Given the description of an element on the screen output the (x, y) to click on. 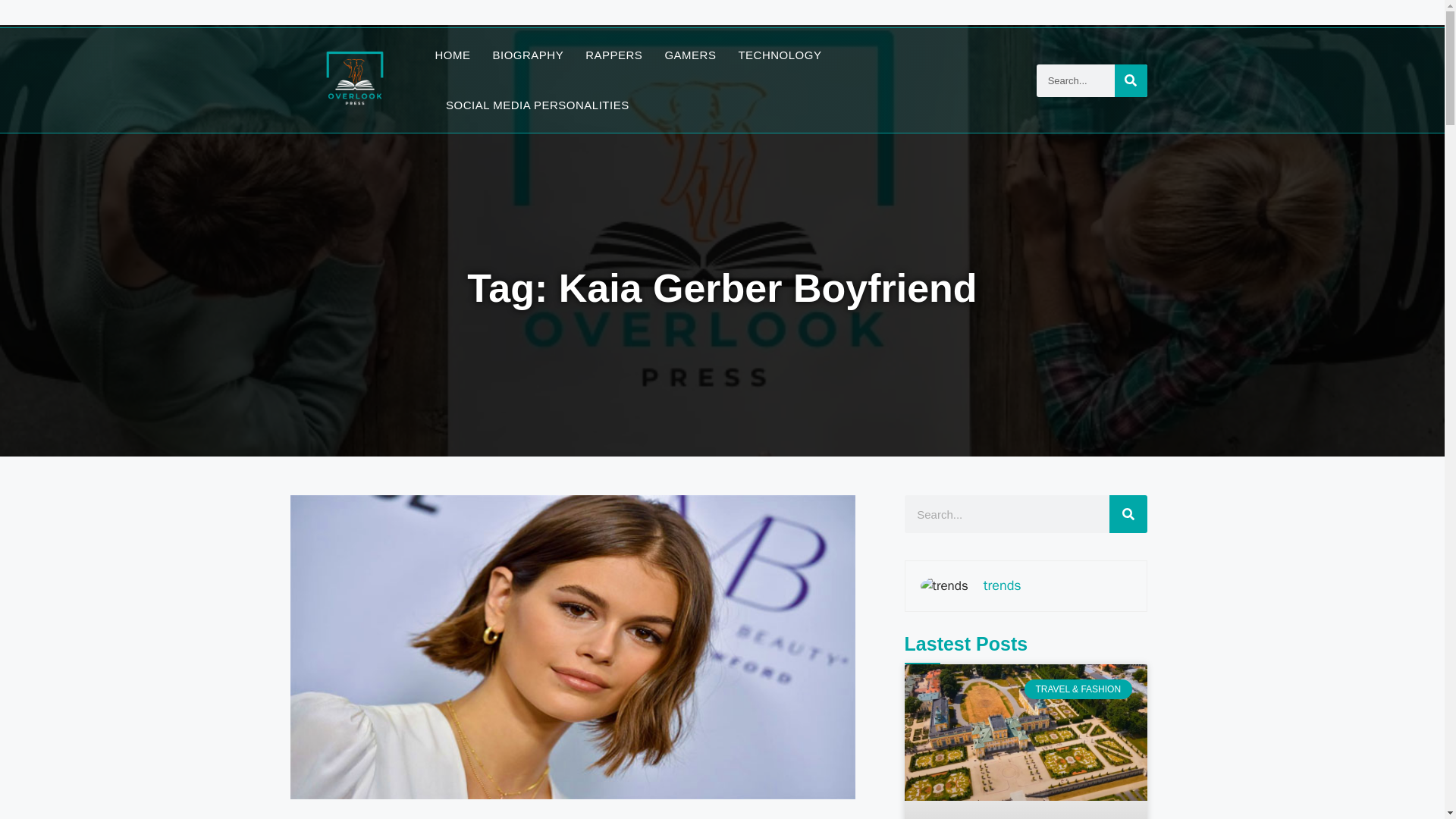
RAPPERS (613, 55)
SOCIAL MEDIA PERSONALITIES (536, 105)
BIOGRAPHY (528, 55)
TECHNOLOGY (779, 55)
trends (1003, 585)
GAMERS (689, 55)
